Given the description of an element on the screen output the (x, y) to click on. 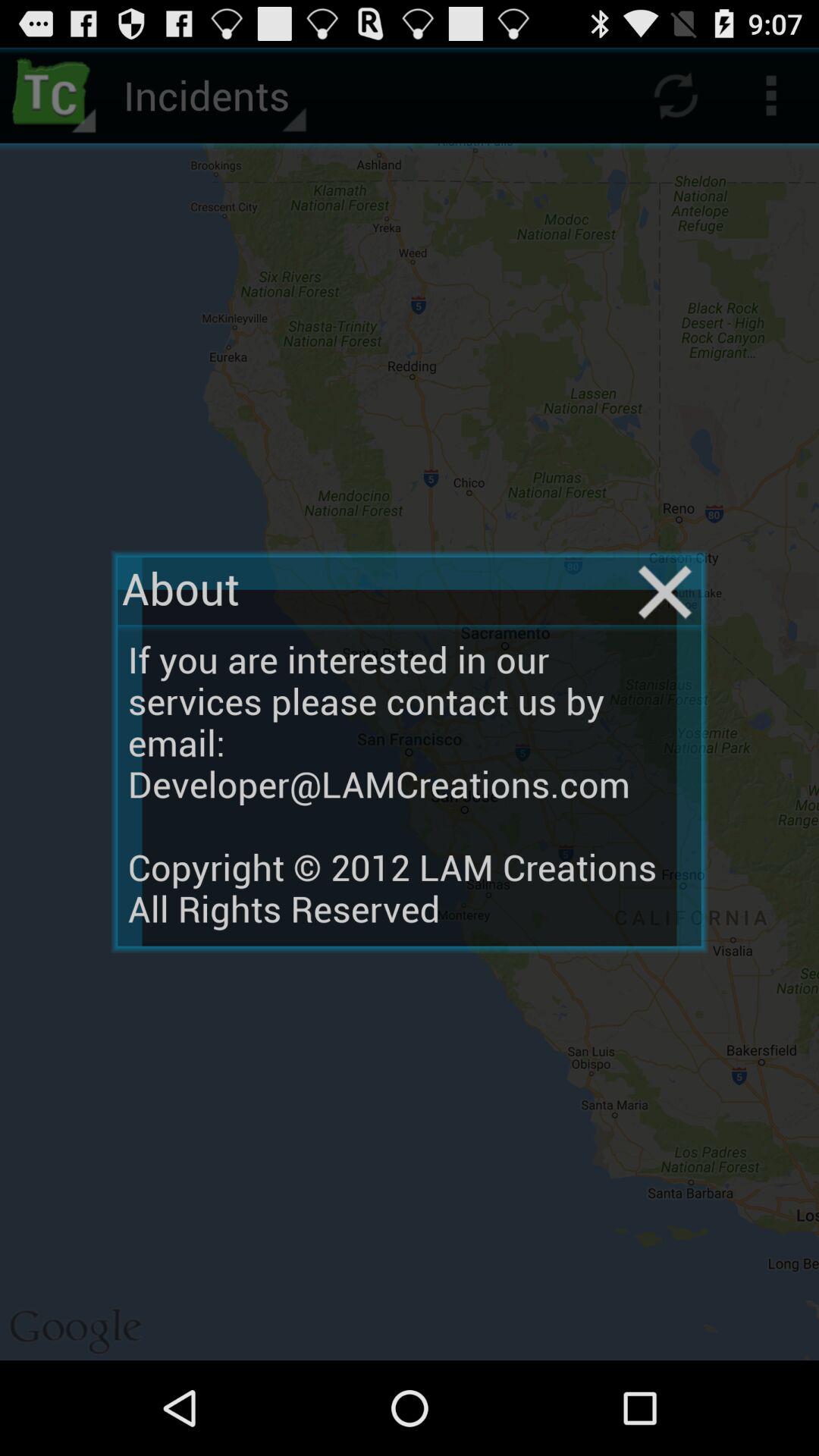
click the icon next to about icon (664, 592)
